Given the description of an element on the screen output the (x, y) to click on. 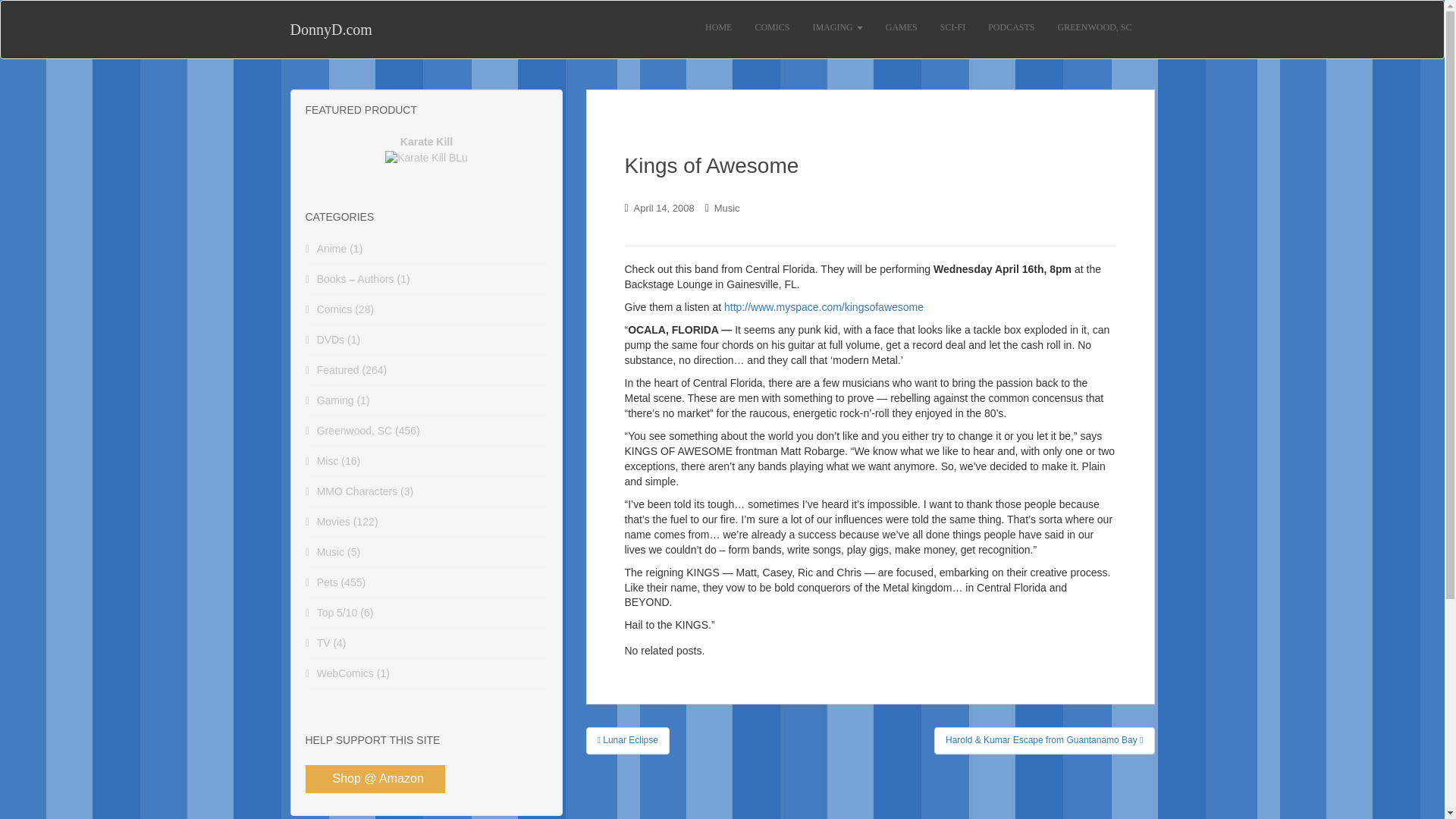
Greenwood, SC (355, 430)
Music (331, 551)
Anime (332, 248)
Imaging (836, 27)
GREENWOOD, SC (1094, 27)
WebComics (345, 673)
Gaming (335, 399)
Pets (327, 582)
SCI-FI (952, 27)
Misc (328, 460)
